Given the description of an element on the screen output the (x, y) to click on. 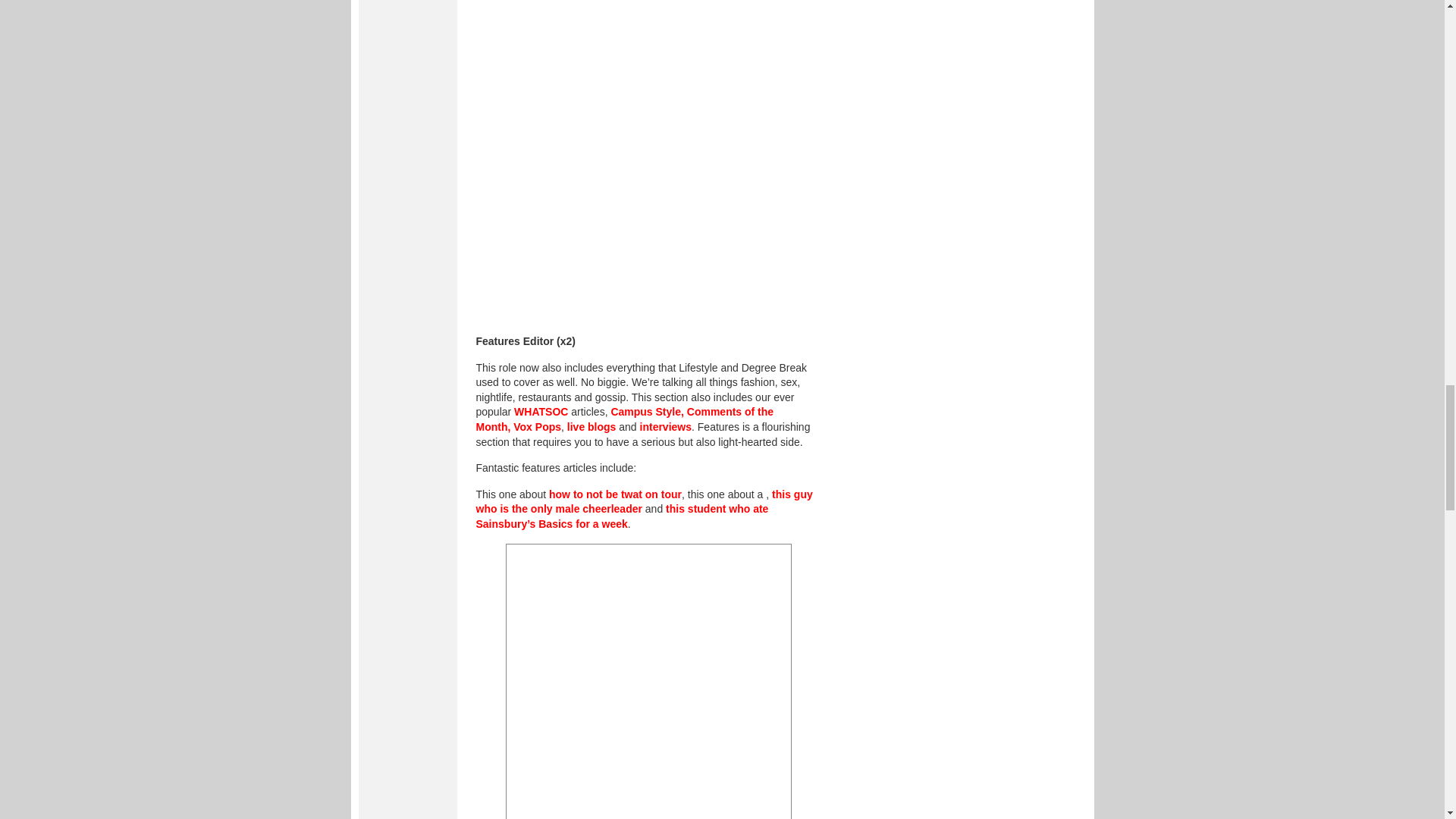
live blogs (591, 426)
interviews (665, 426)
Vox Pops (536, 426)
Campus Style (645, 411)
this guy who is the only male cheerleader (644, 501)
Comments of the Month (625, 419)
how to not be twat on tour (614, 494)
